Given the description of an element on the screen output the (x, y) to click on. 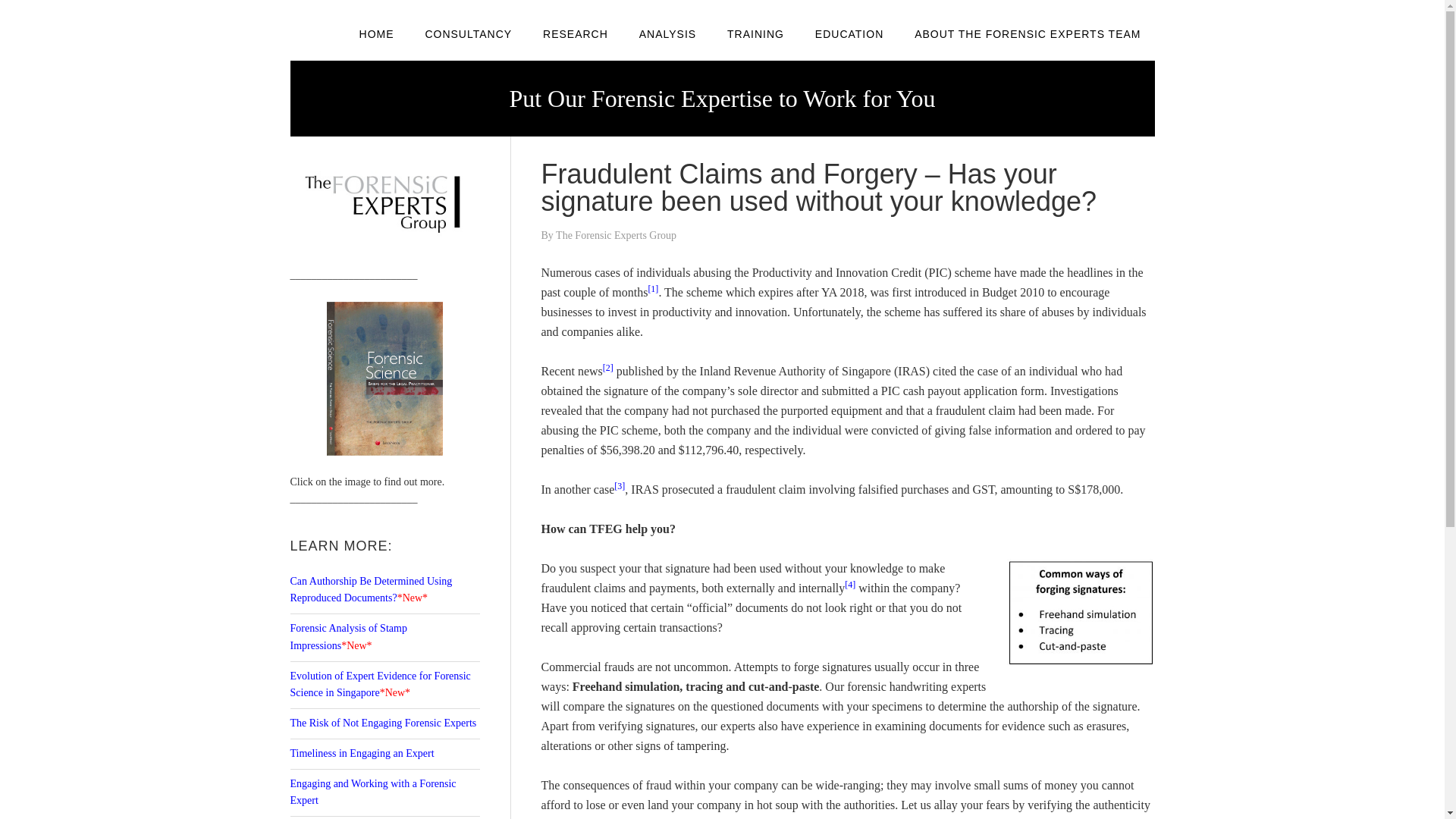
ANALYSIS (668, 33)
EDUCATION (849, 33)
HOME (376, 33)
RESEARCH (575, 33)
The Risk of Not Engaging Forensic Experts (382, 722)
CONSULTANCY (467, 33)
ABOUT THE FORENSIC EXPERTS TEAM (1027, 33)
Engaging and Working with a Forensic Expert (372, 792)
TRAINING (755, 33)
Timeliness in Engaging an Expert (361, 753)
